Given the description of an element on the screen output the (x, y) to click on. 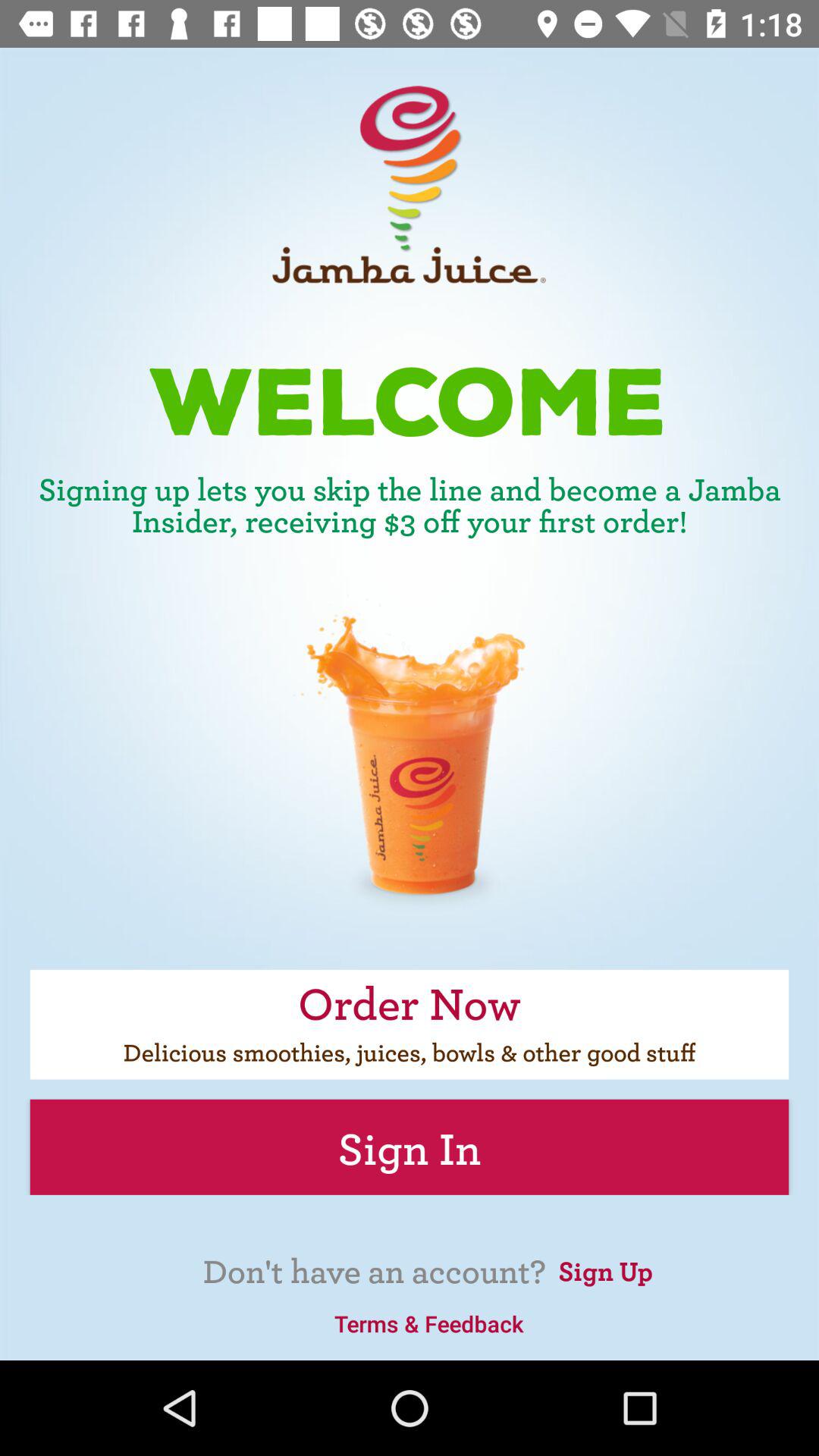
open the icon above the sign up icon (409, 1146)
